Given the description of an element on the screen output the (x, y) to click on. 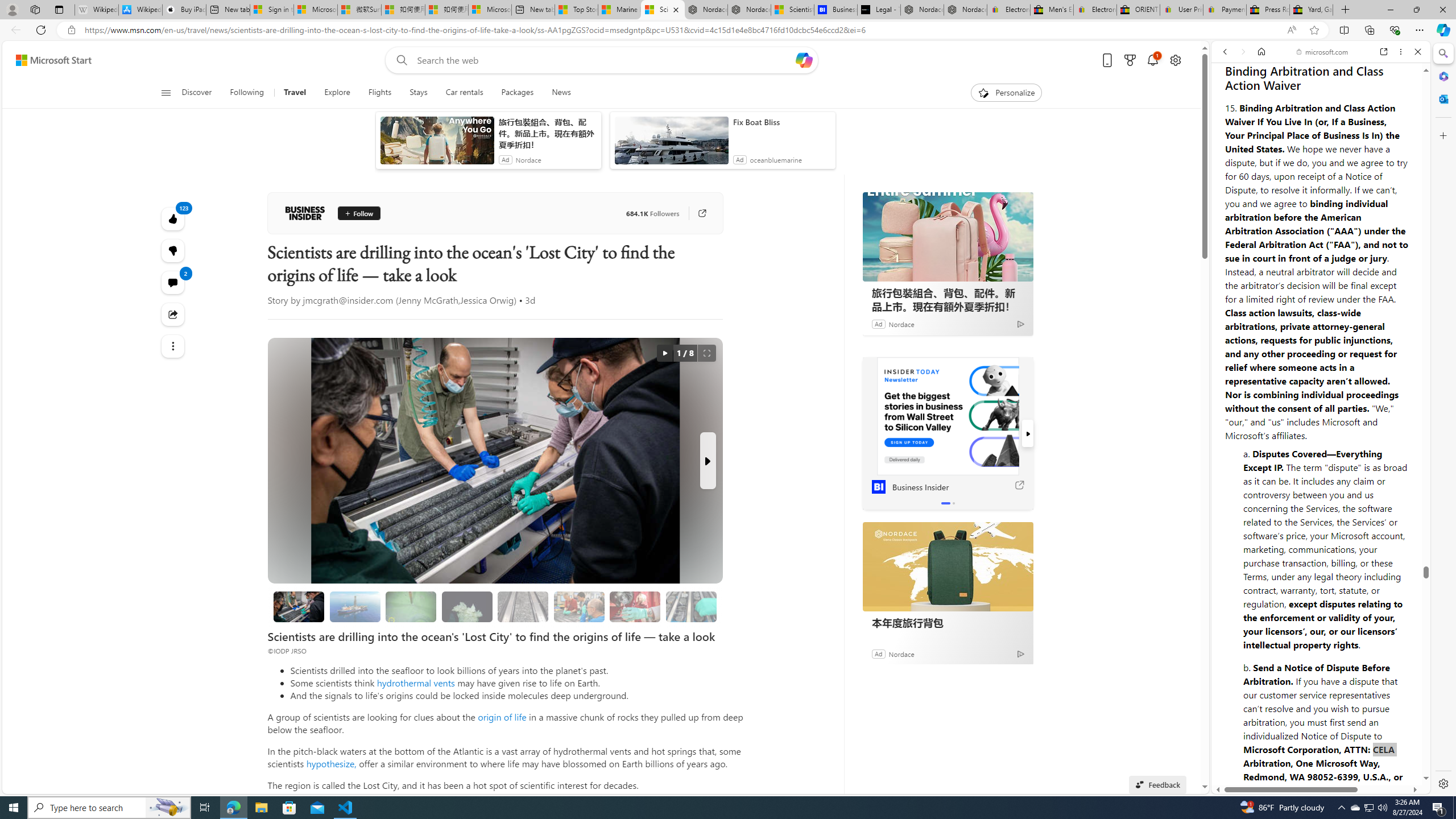
Privacy (1252, 751)
Web scope (1230, 102)
Nordace - Summer Adventures 2024 (922, 9)
Open Copilot (803, 59)
Search the web (1326, 78)
Researchers are still studying the samples (691, 606)
Discover (201, 92)
User Privacy Notice | eBay (1181, 9)
Explore (337, 92)
Notifications (1152, 60)
autorotate button (664, 352)
Advertise (1334, 757)
Looking for evidence of oxygen-free life (579, 606)
